Given the description of an element on the screen output the (x, y) to click on. 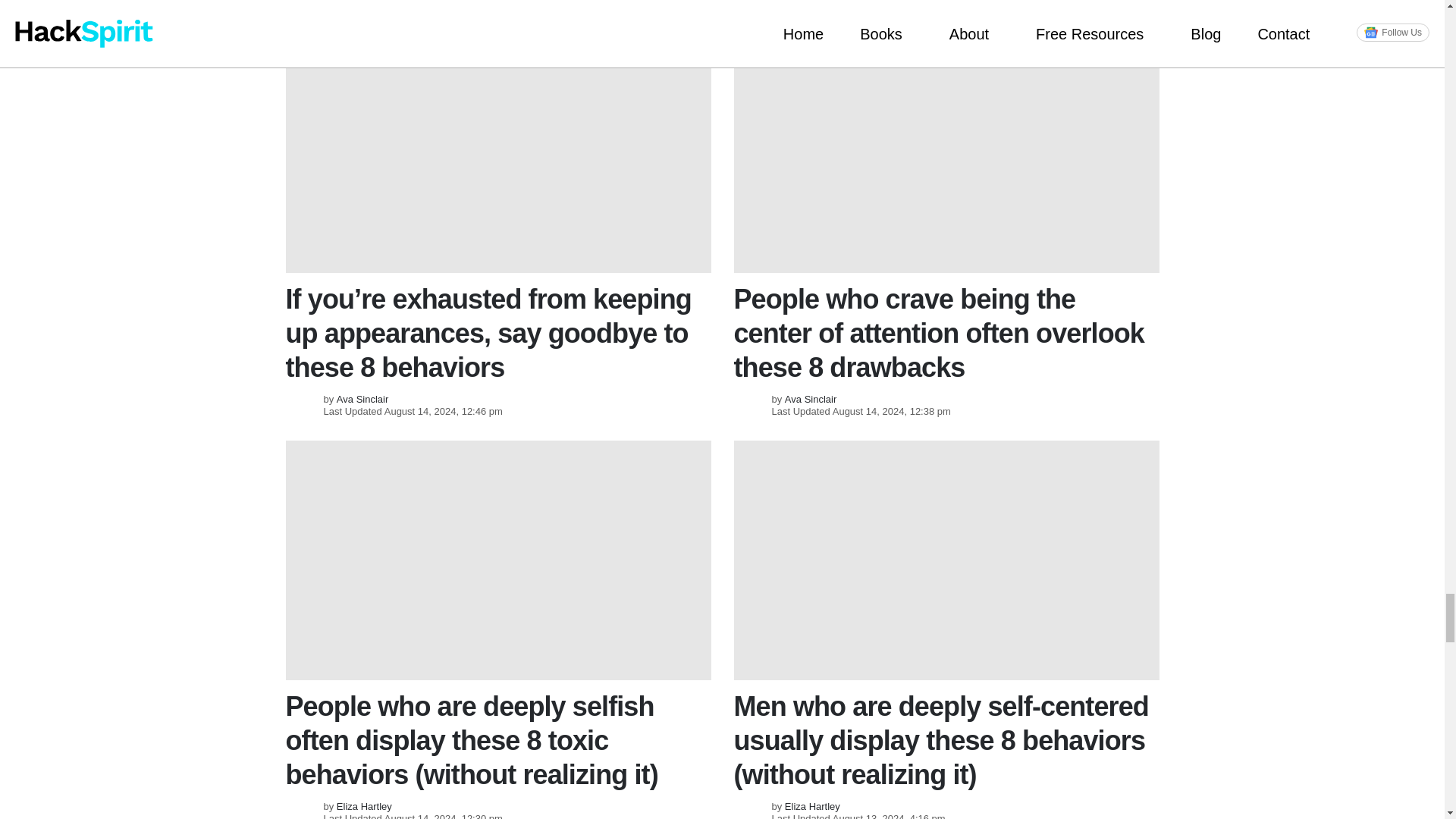
Posts by Eliza Hartley (812, 806)
Posts by Eliza Hartley (363, 806)
Posts by Ava Sinclair (809, 398)
Posts by Ava Sinclair (362, 398)
